Given the description of an element on the screen output the (x, y) to click on. 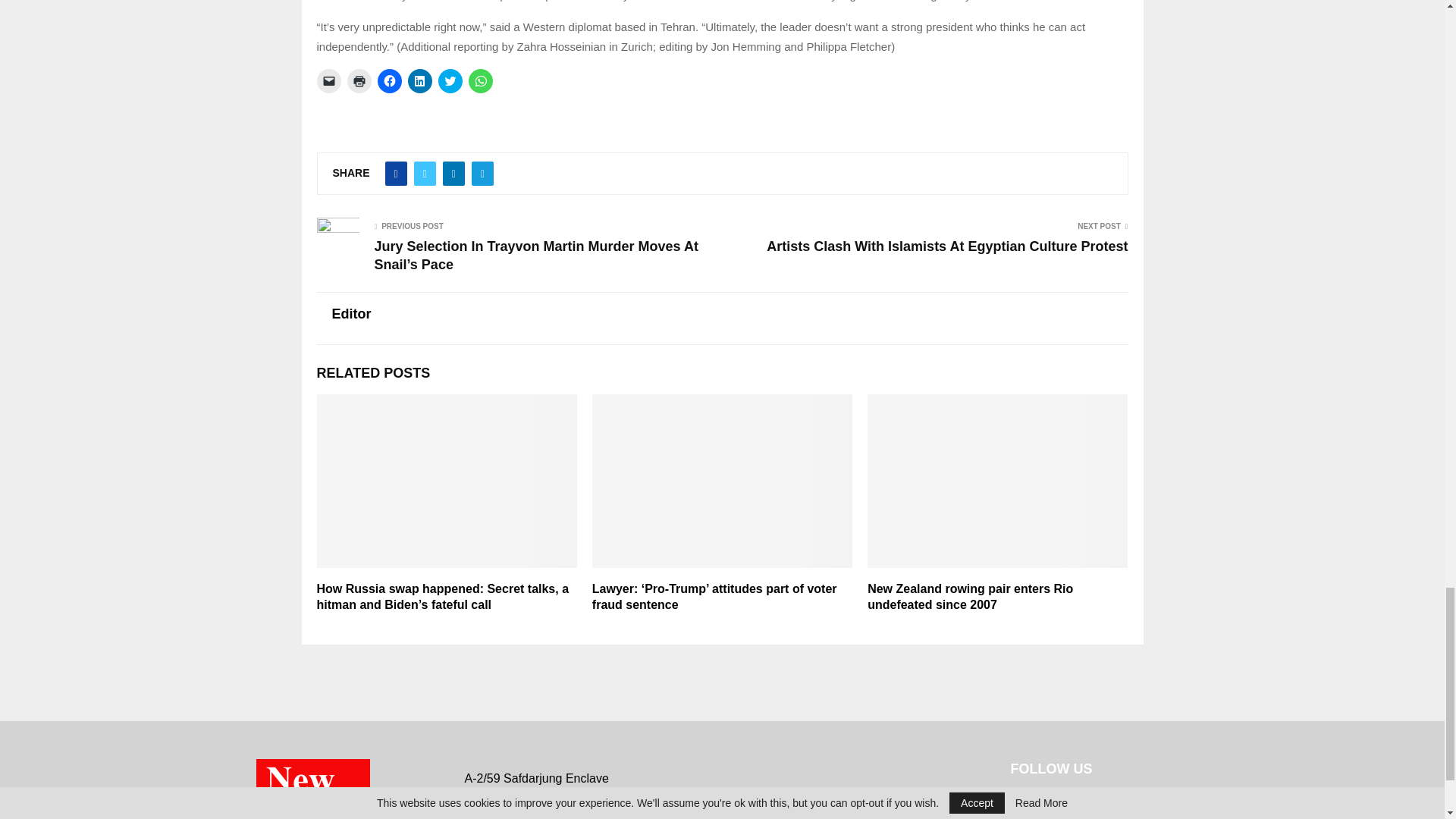
Click to print (359, 80)
Click to share on Facebook (389, 80)
Click to share on LinkedIn (419, 80)
Click to email a link to a friend (328, 80)
